Given the description of an element on the screen output the (x, y) to click on. 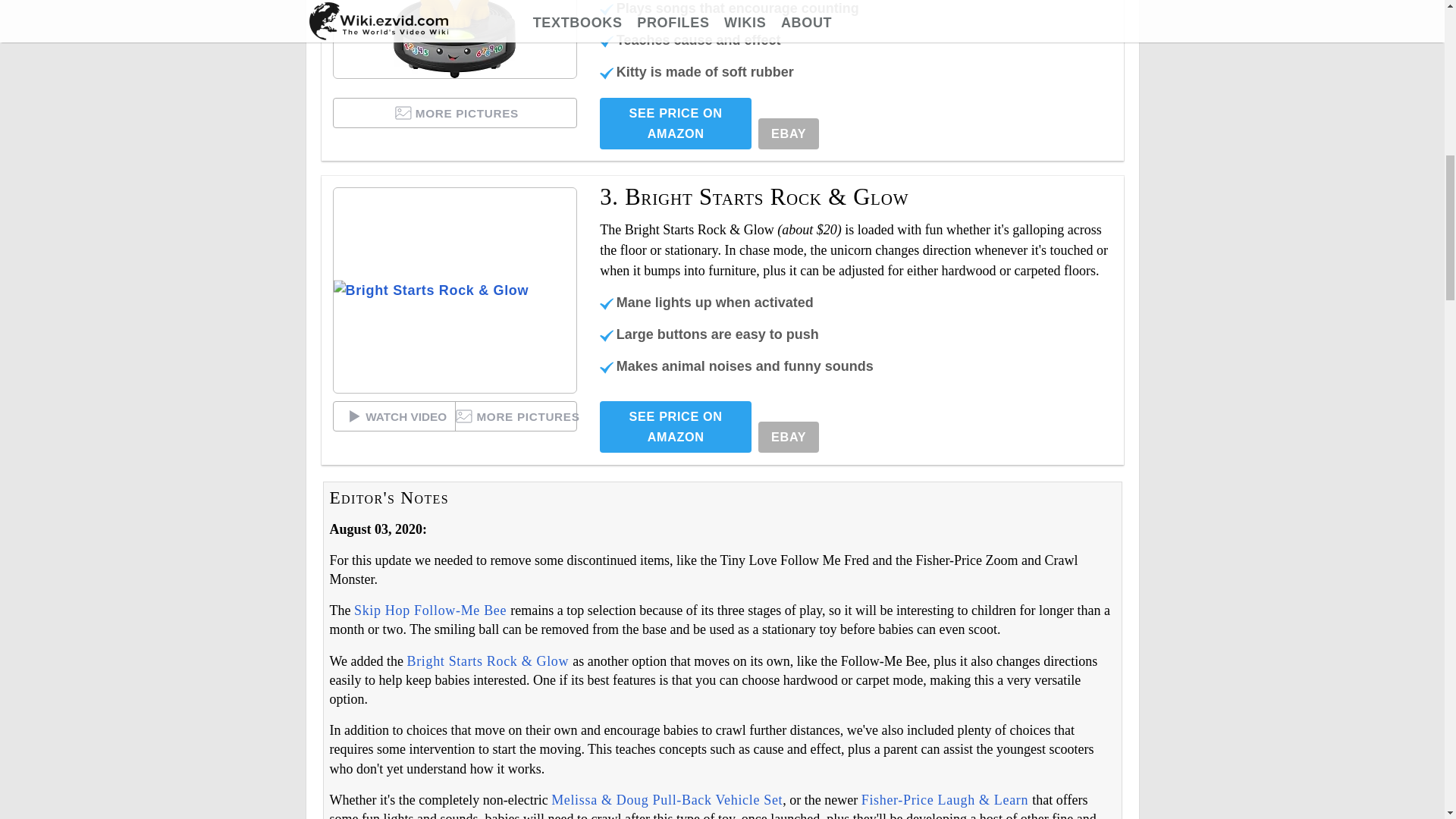
EBAY (788, 133)
MORE PICTURES (454, 112)
SEE PRICE ON AMAZON (675, 123)
